Given the description of an element on the screen output the (x, y) to click on. 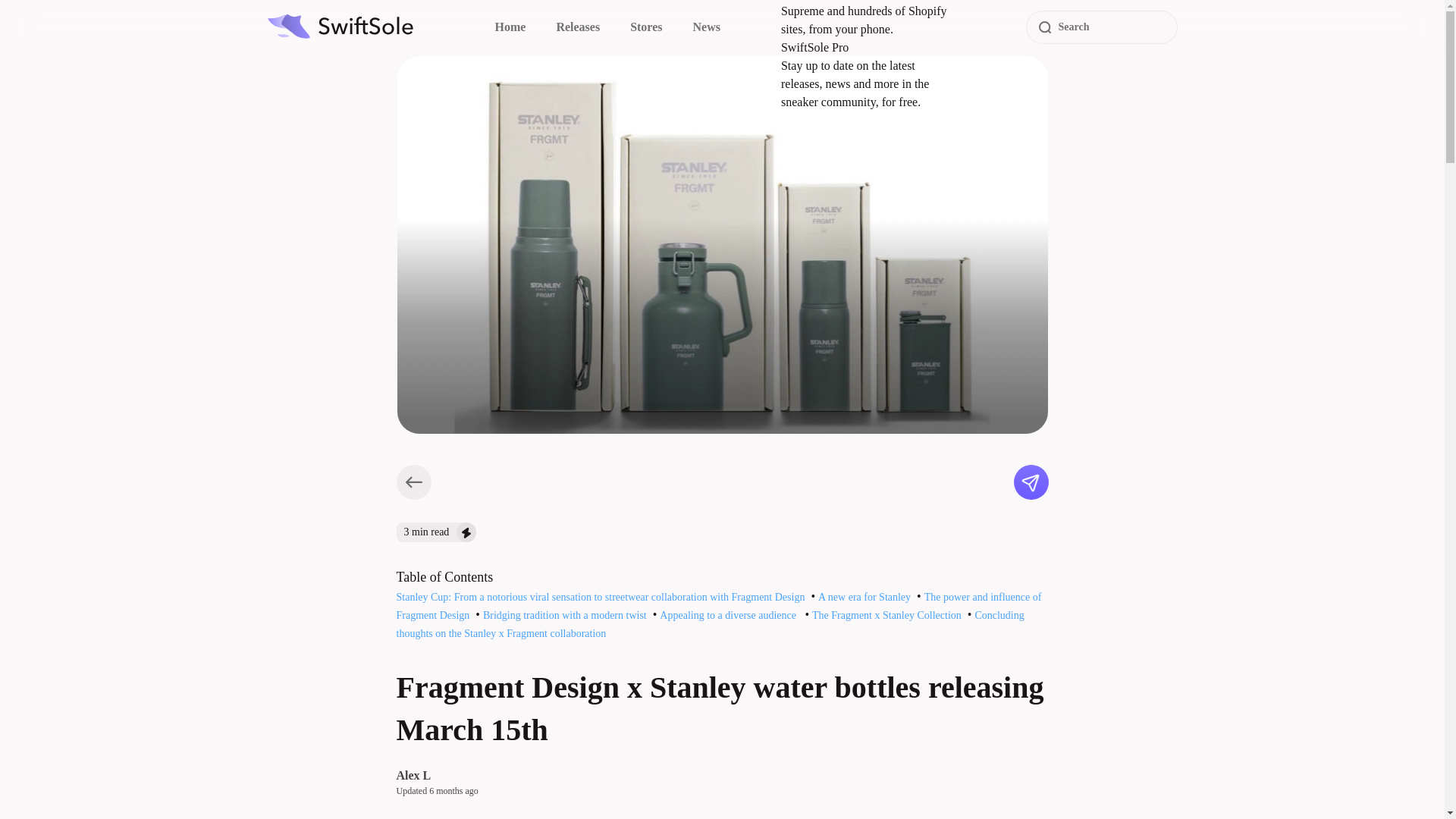
A new era for Stanley (864, 596)
Releases (577, 26)
Stores (646, 26)
The Fragment x Stanley Collection (886, 614)
Appealing to a diverse audience  (728, 614)
Concluding thoughts on the Stanley x Fragment collaboration (709, 624)
Search (1100, 27)
The power and influence of Fragment Design (718, 605)
